Given the description of an element on the screen output the (x, y) to click on. 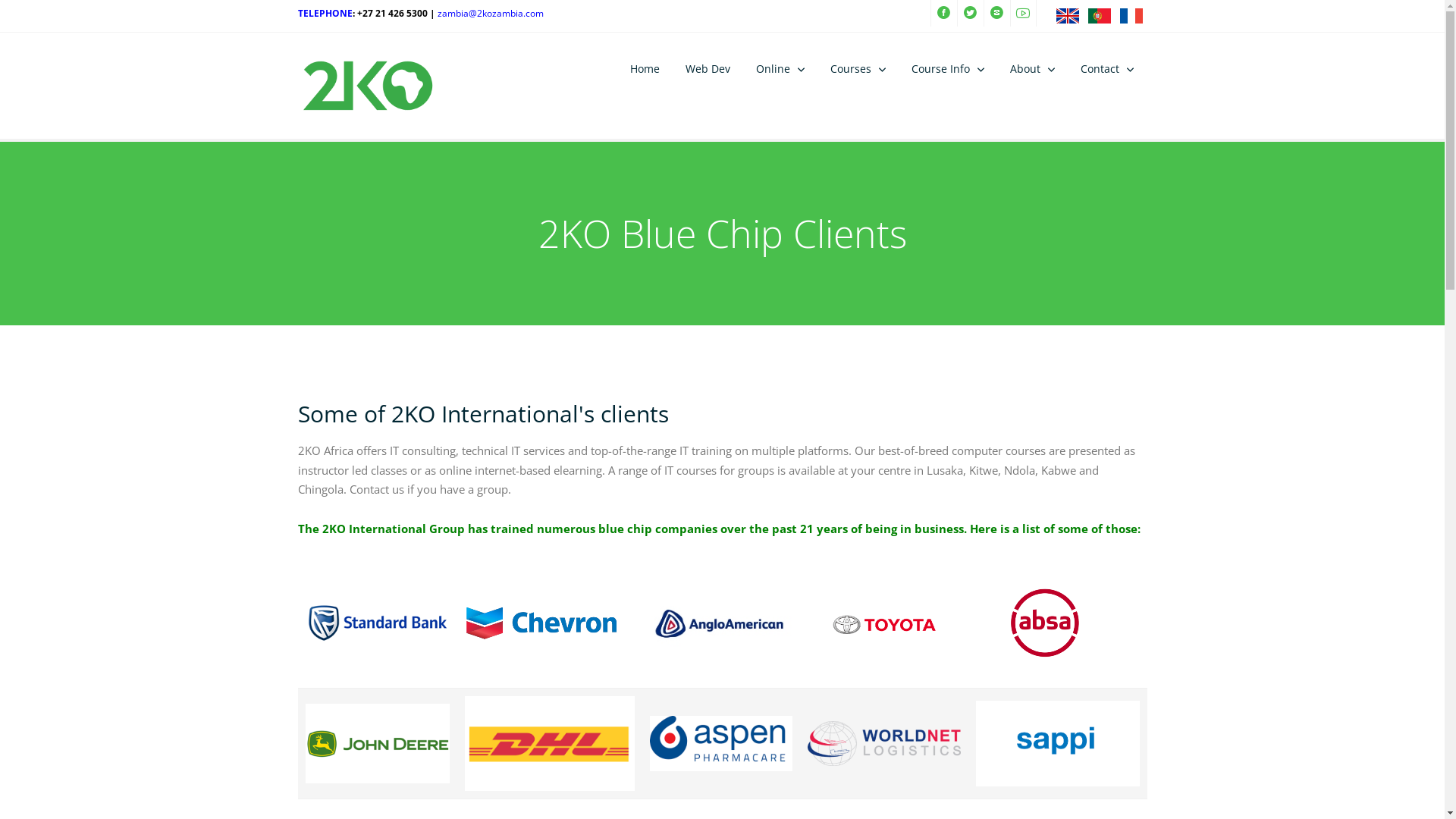
Courses Element type: text (857, 68)
Online Element type: text (780, 68)
zambia@2kozambia.com Element type: text (489, 12)
About Element type: text (1032, 68)
Home Element type: text (644, 68)
Web Dev Element type: text (707, 68)
Contact Element type: text (1106, 68)
Course Info Element type: text (947, 68)
